Given the description of an element on the screen output the (x, y) to click on. 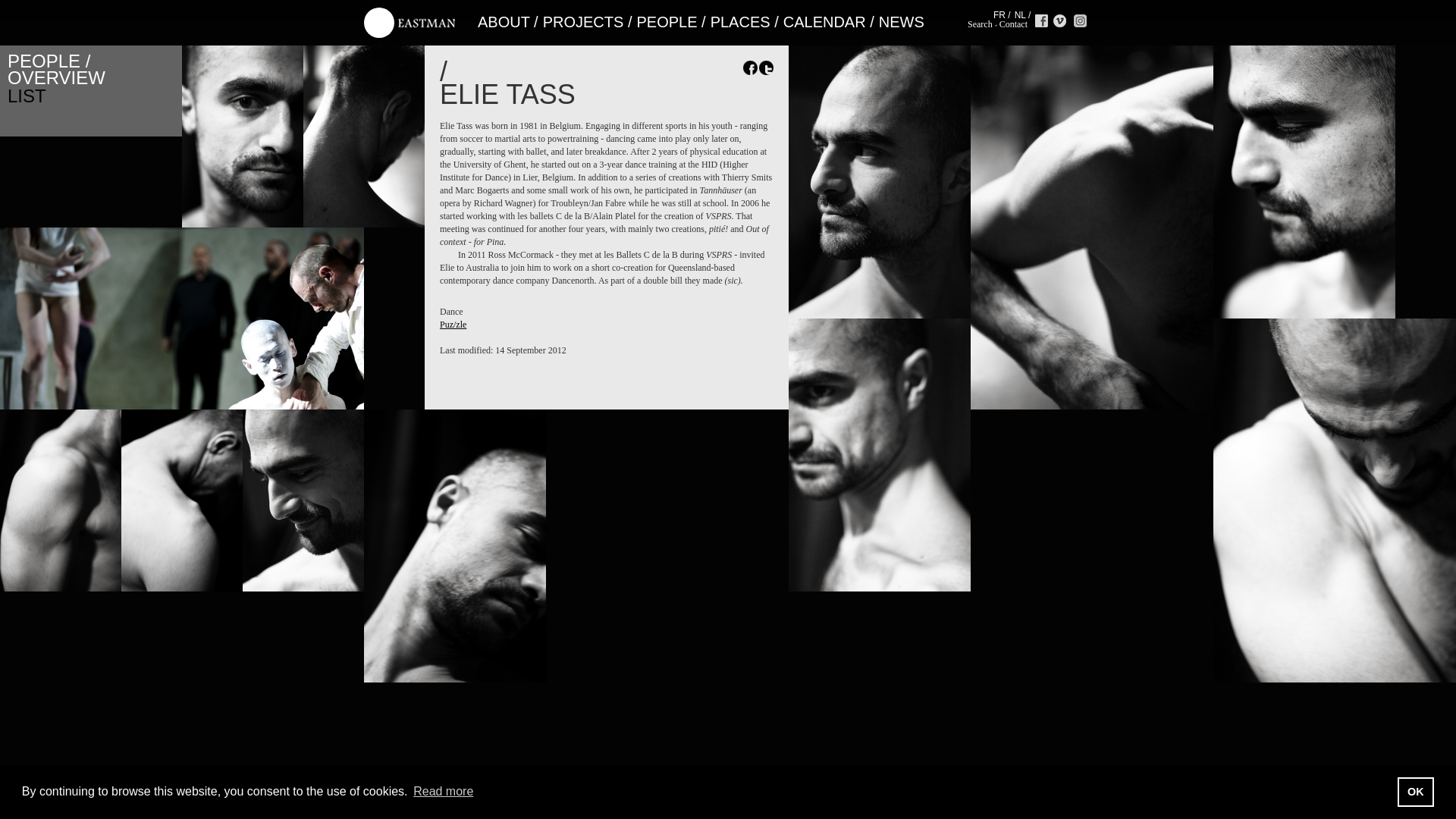
LIST (26, 95)
NEWS (901, 21)
FR (999, 14)
PLACES (740, 21)
CALENDAR (824, 21)
Search (980, 23)
ABOUT (503, 21)
OVERVIEW (55, 77)
PROJECTS (583, 21)
NL (1020, 14)
Contact (1012, 23)
PEOPLE (666, 21)
